Given the description of an element on the screen output the (x, y) to click on. 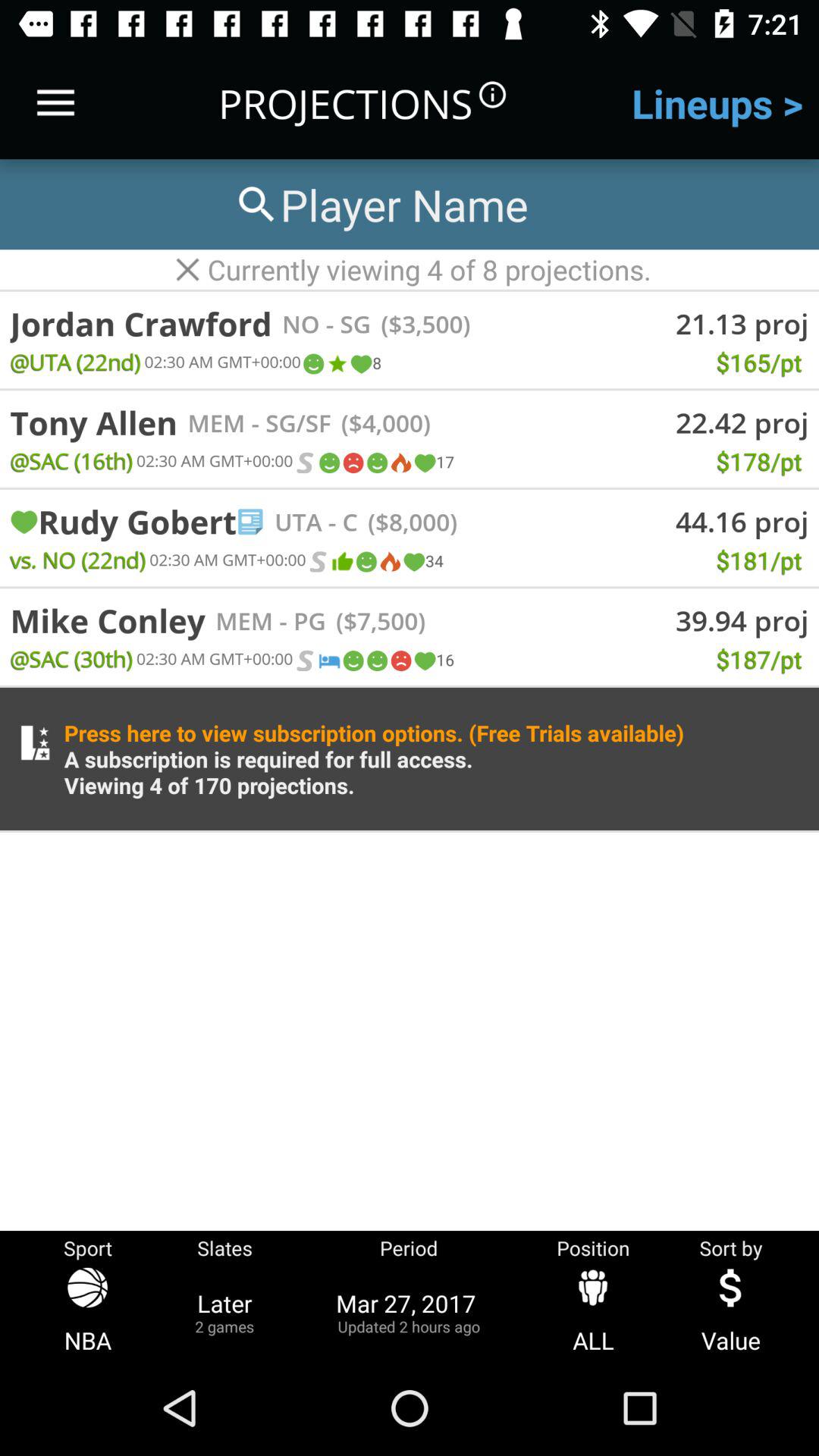
launch icon to the left of $178/pt item (433, 462)
